Given the description of an element on the screen output the (x, y) to click on. 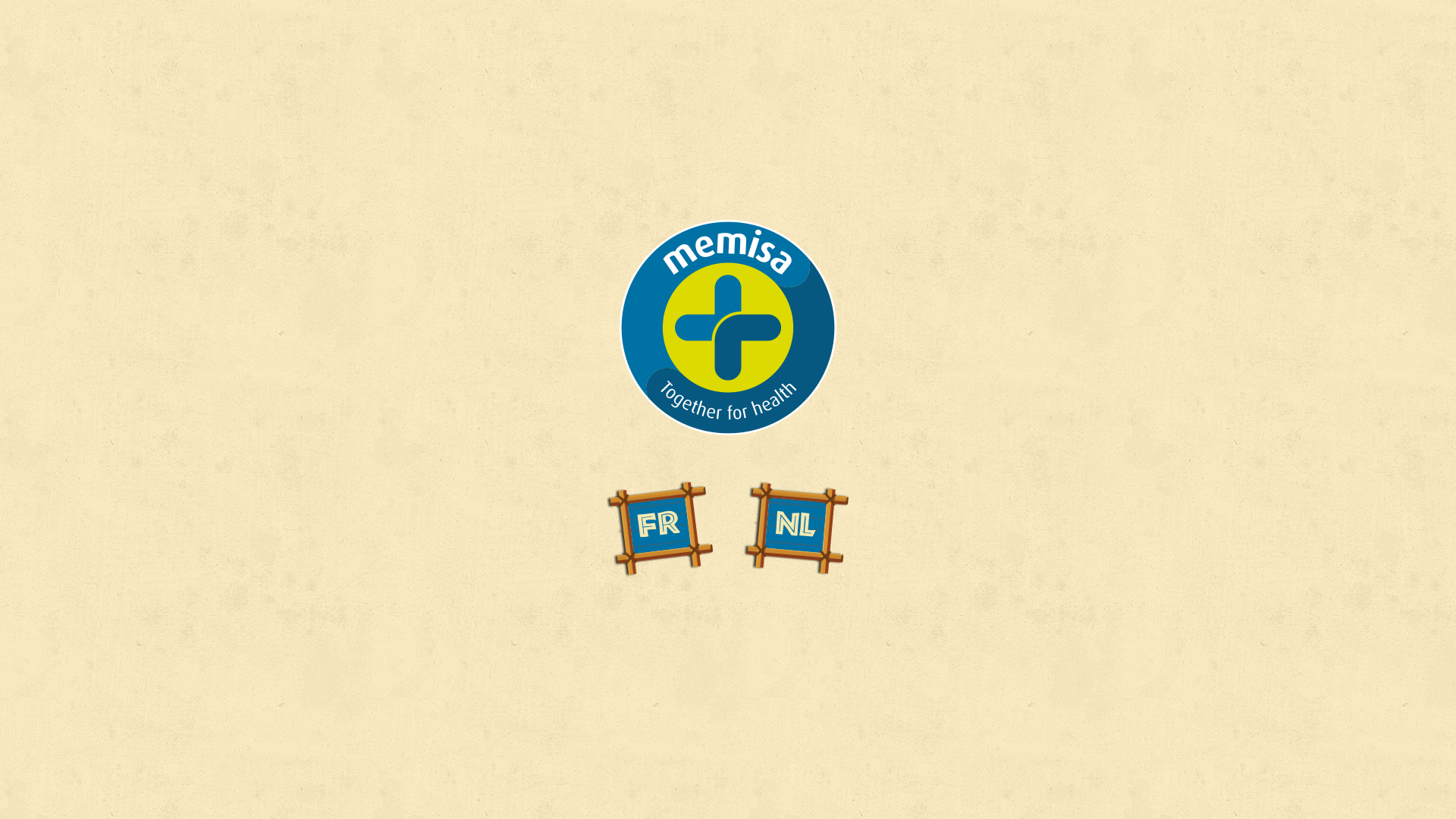
FR Element type: text (654, 522)
NL Element type: text (791, 523)
Memisa Element type: hover (727, 327)
